Given the description of an element on the screen output the (x, y) to click on. 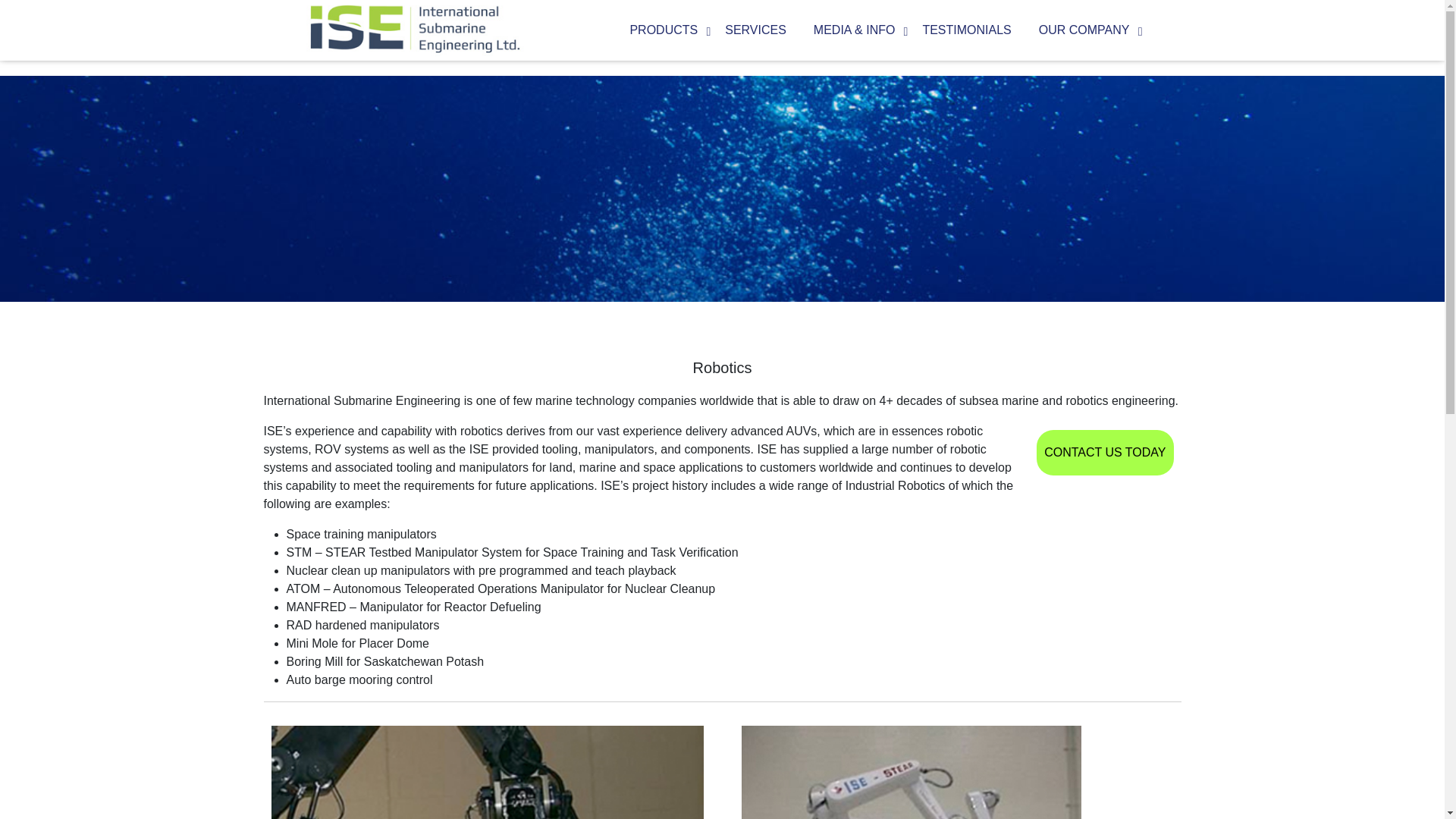
TESTIMONIALS Element type: text (966, 30)
SERVICES Element type: text (755, 30)
MEDIA & INFO Element type: text (854, 30)
CONTACT US TODAY Element type: text (1104, 452)
International Submarine Engineering Element type: hover (415, 28)
OUR COMPANY Element type: text (1084, 30)
PRODUCTS Element type: text (663, 30)
